Given the description of an element on the screen output the (x, y) to click on. 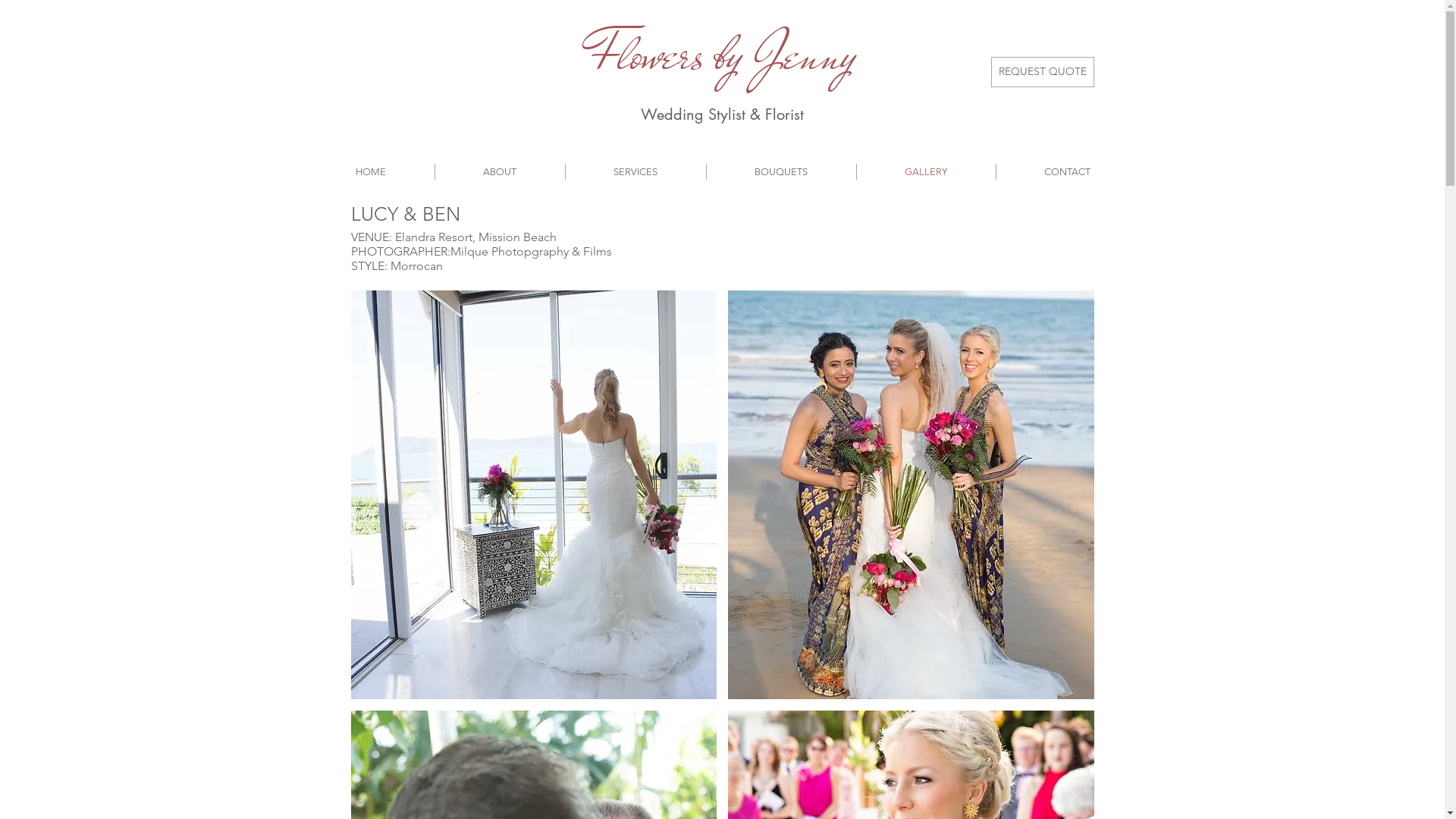
SERVICES Element type: text (635, 171)
REQUEST QUOTE Element type: text (1041, 71)
HOME Element type: text (369, 171)
GALLERY Element type: text (925, 171)
CONTACT Element type: text (1067, 171)
ABOUT Element type: text (499, 171)
BOUQUETS Element type: text (781, 171)
